Given the description of an element on the screen output the (x, y) to click on. 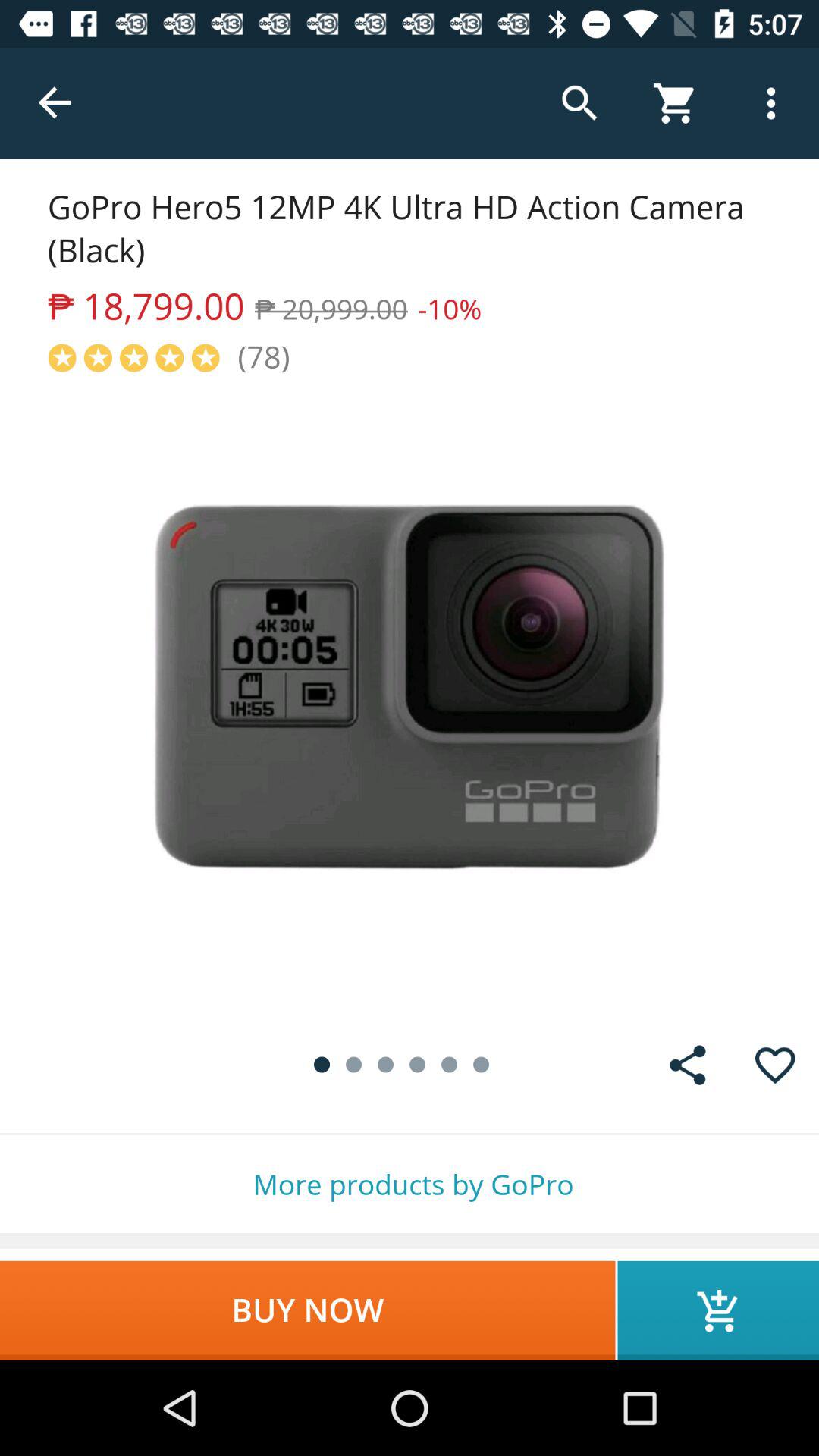
turn on the icon below the more products by icon (718, 1310)
